Given the description of an element on the screen output the (x, y) to click on. 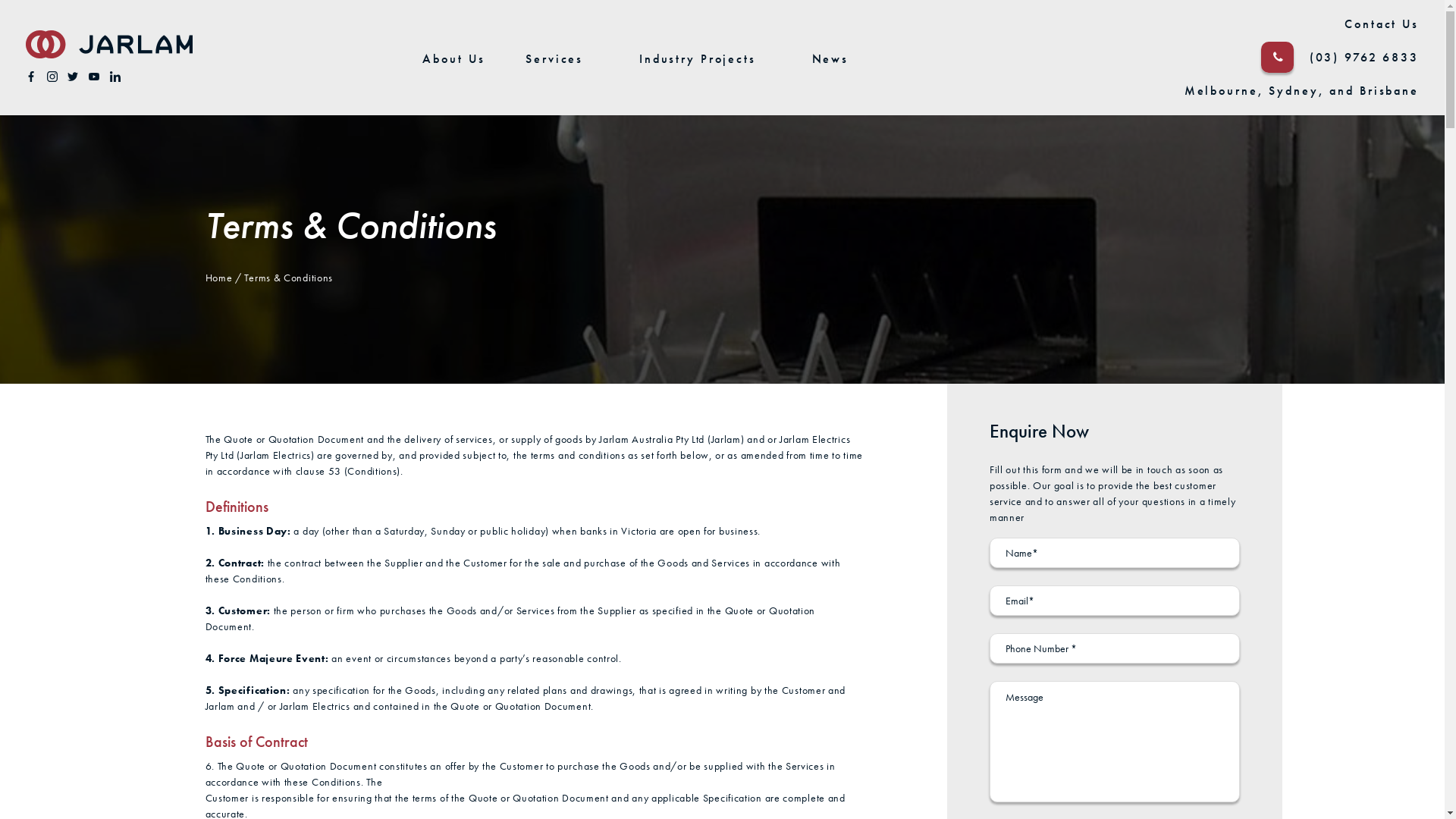
(03) 9762 6833 Element type: text (1363, 57)
About Us Element type: text (453, 59)
Services Element type: text (554, 59)
Contact Us Element type: text (1381, 23)
News Element type: text (830, 59)
Industry Projects Element type: text (697, 59)
Home Element type: text (218, 277)
